Given the description of an element on the screen output the (x, y) to click on. 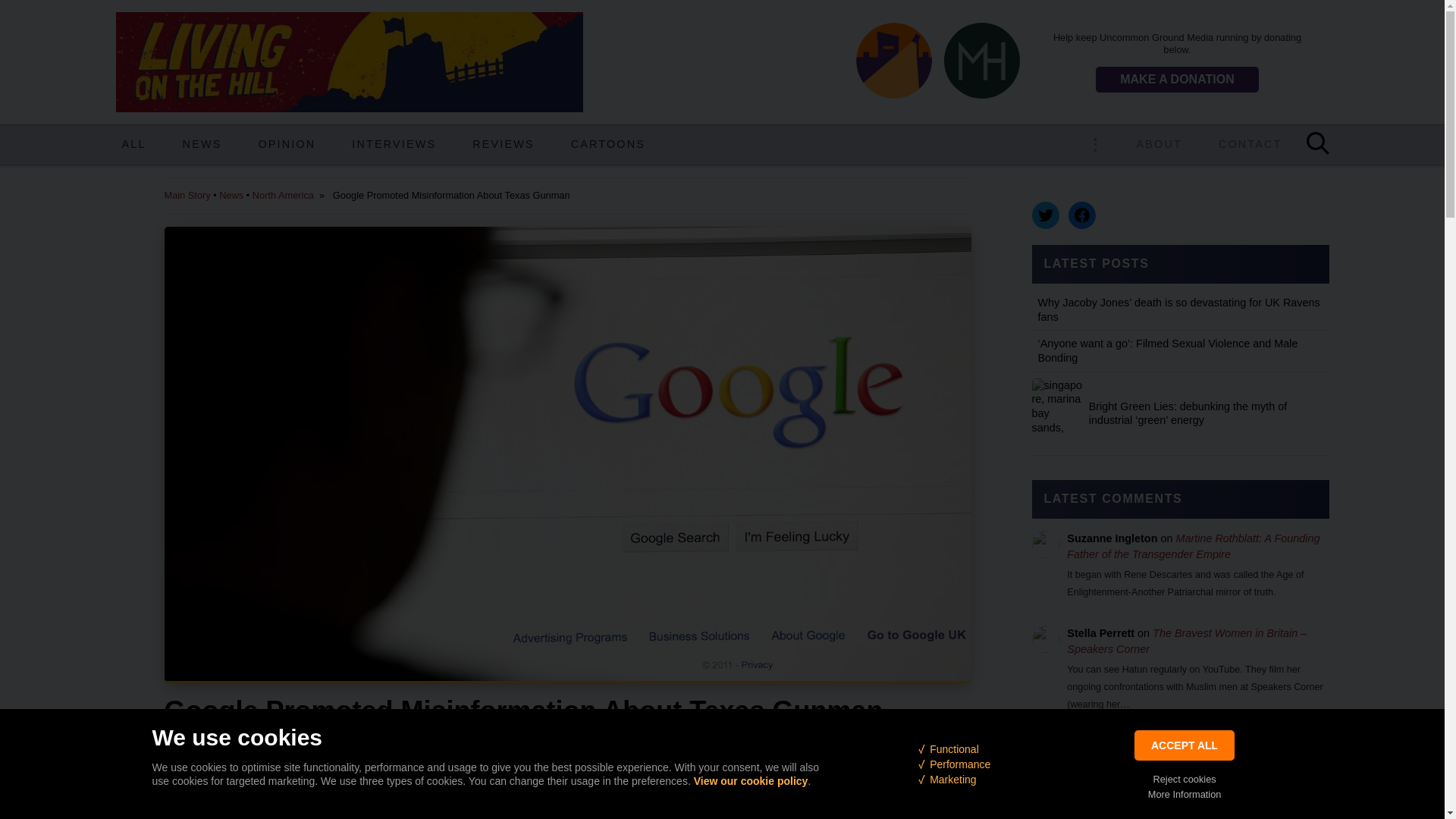
News (231, 194)
North America (282, 194)
ABOUT (1159, 145)
CONTACT (1250, 145)
MAKE A DONATION (1177, 79)
Sarah Mills (367, 757)
Posts by Sarah Mills (367, 757)
CARTOONS (607, 145)
Main Story (186, 194)
NEWS (202, 145)
